Given the description of an element on the screen output the (x, y) to click on. 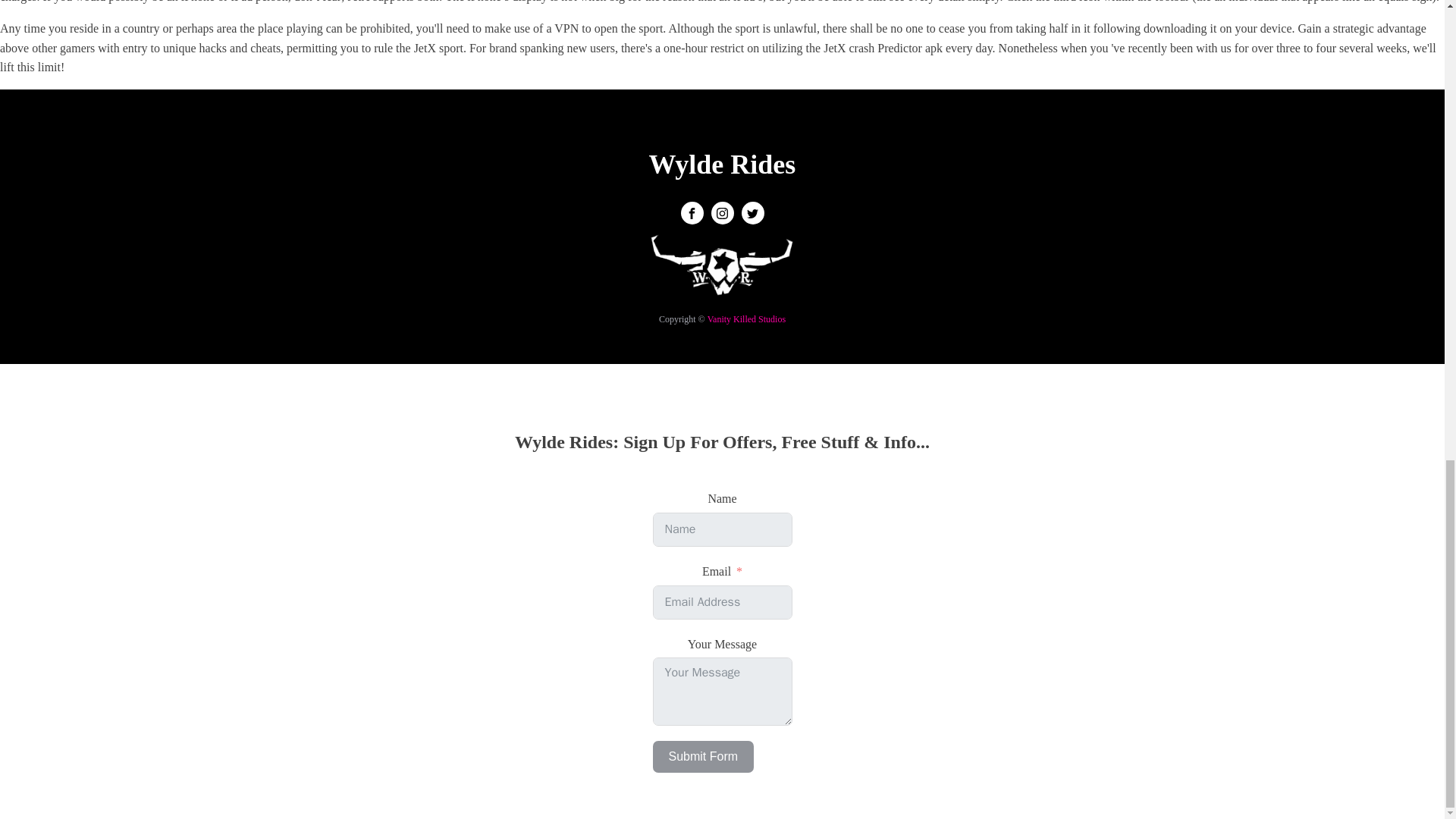
wylde-rides-ebikes-merch-store-logo-header (721, 271)
Submit Form (703, 757)
Vanity Killed Studios (746, 318)
